Given the description of an element on the screen output the (x, y) to click on. 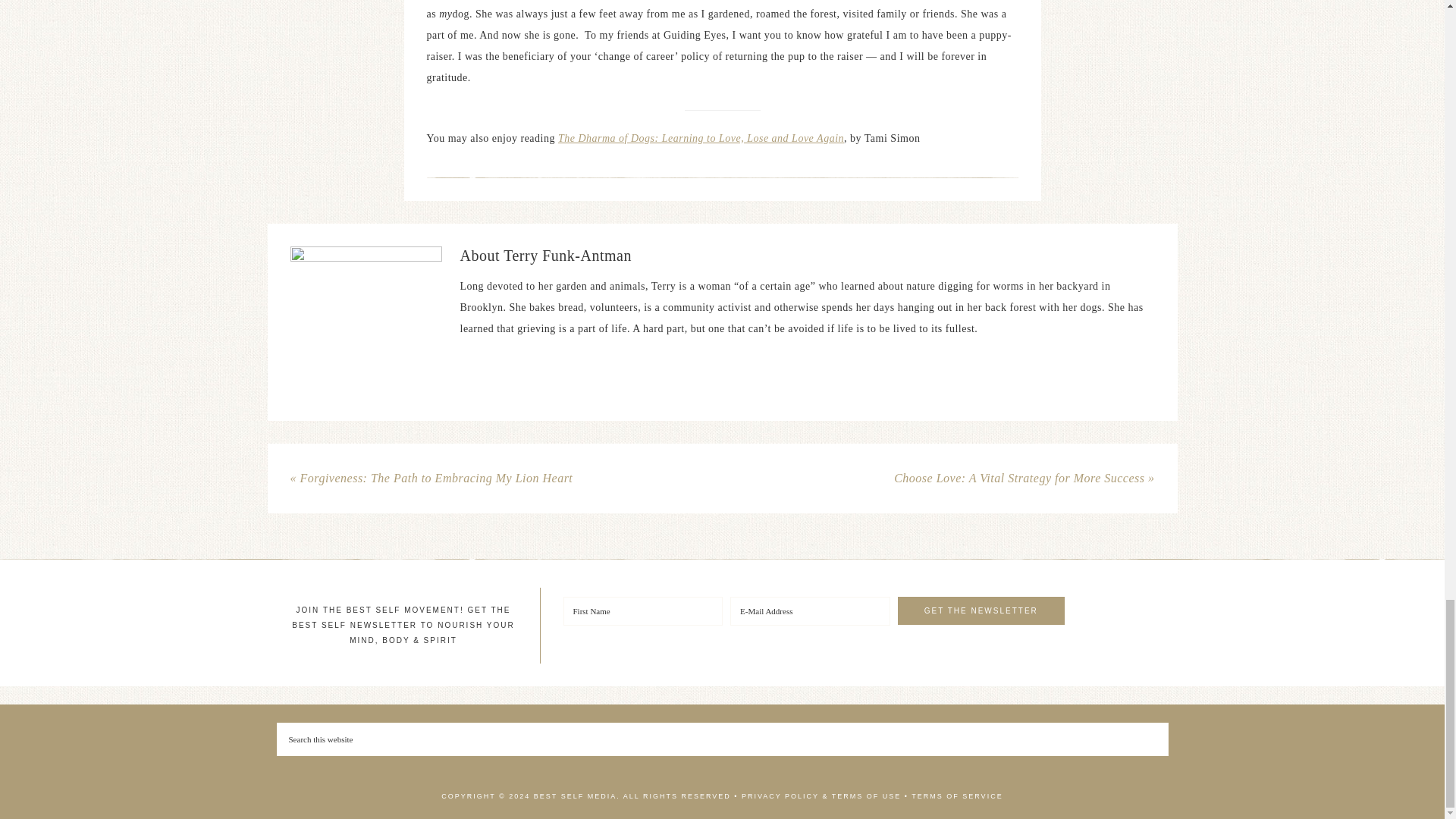
GET THE NEWSLETTER (981, 610)
